Given the description of an element on the screen output the (x, y) to click on. 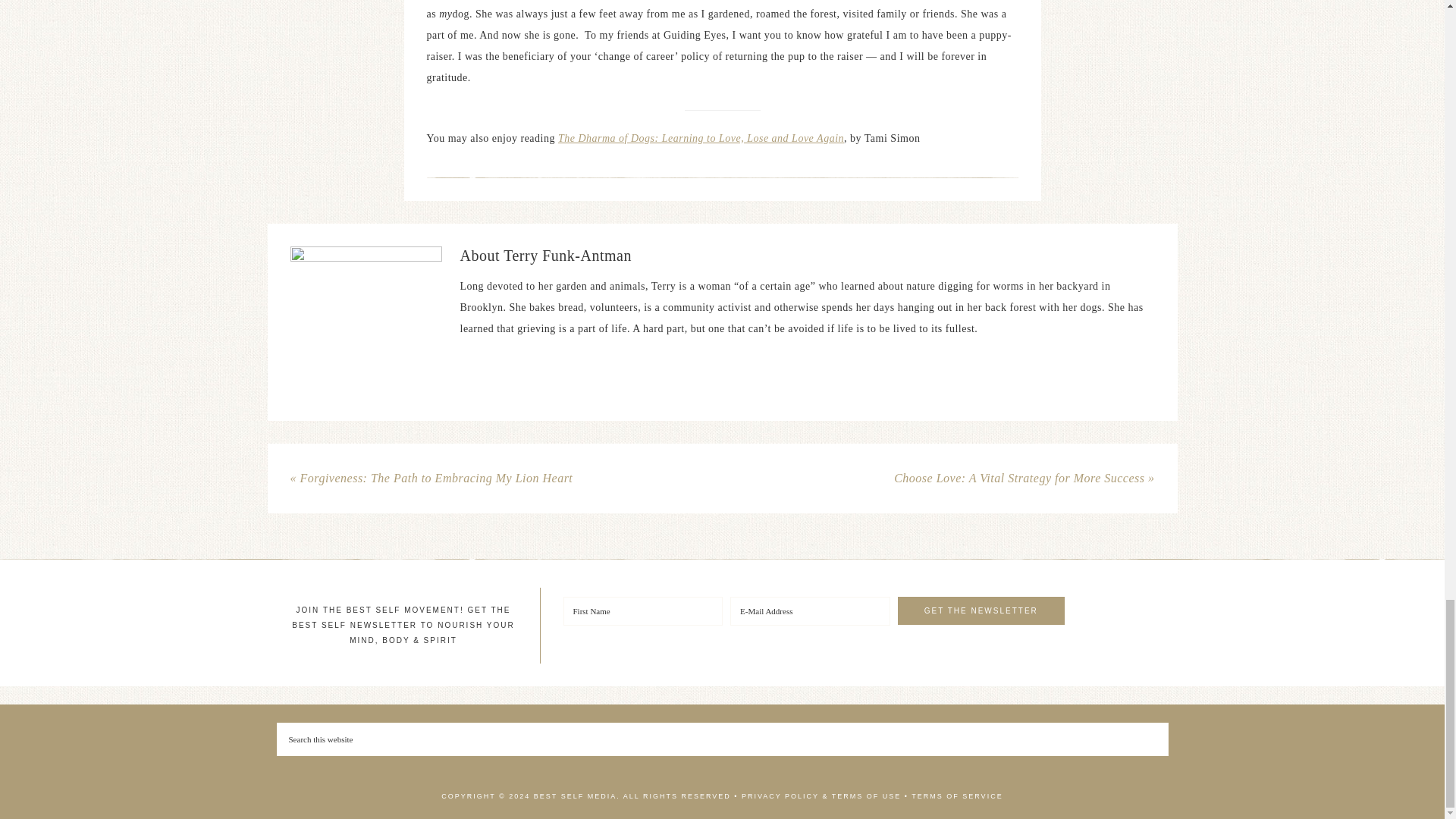
GET THE NEWSLETTER (981, 610)
